Given the description of an element on the screen output the (x, y) to click on. 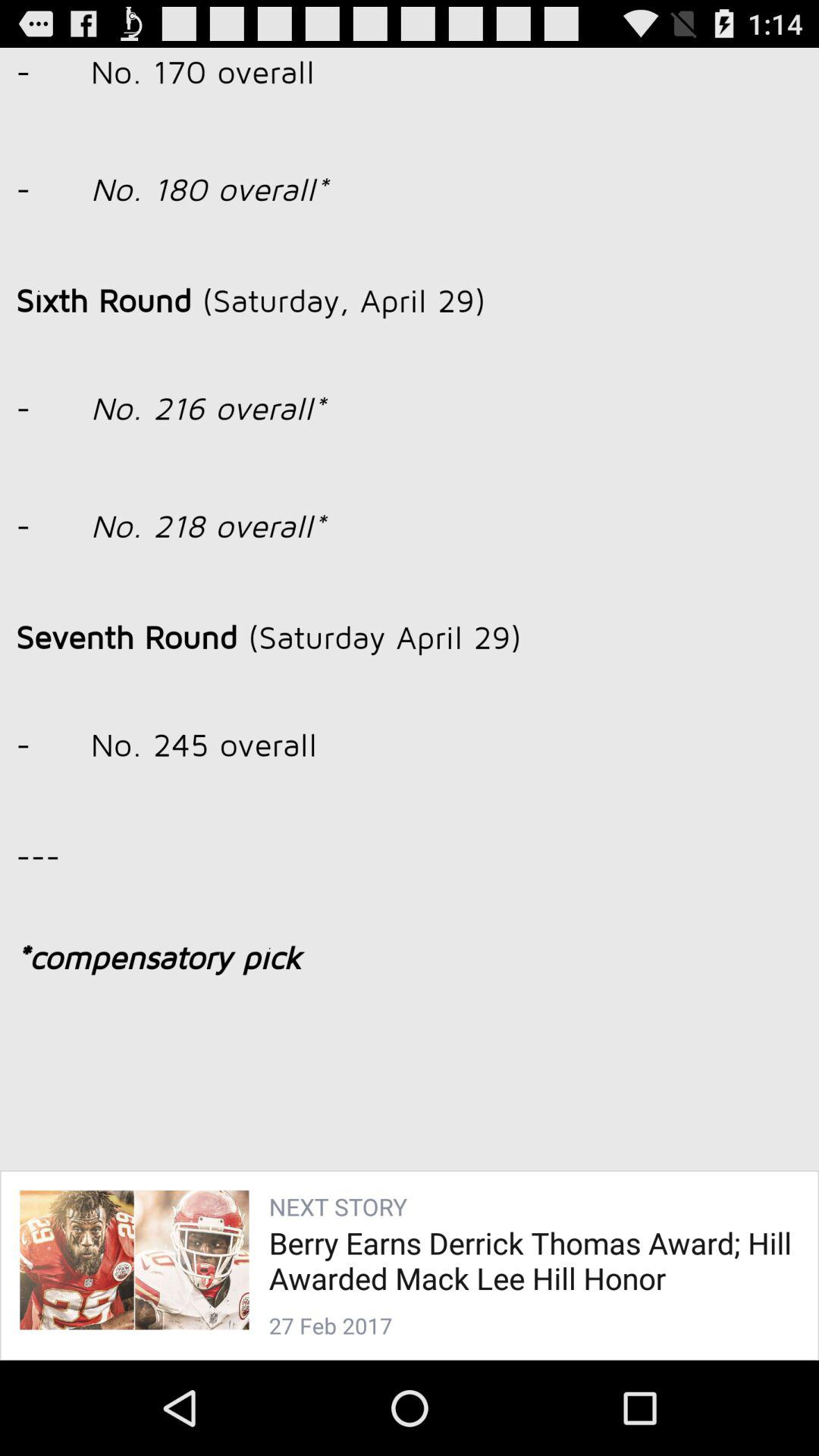
show the adverisment (409, 683)
